Given the description of an element on the screen output the (x, y) to click on. 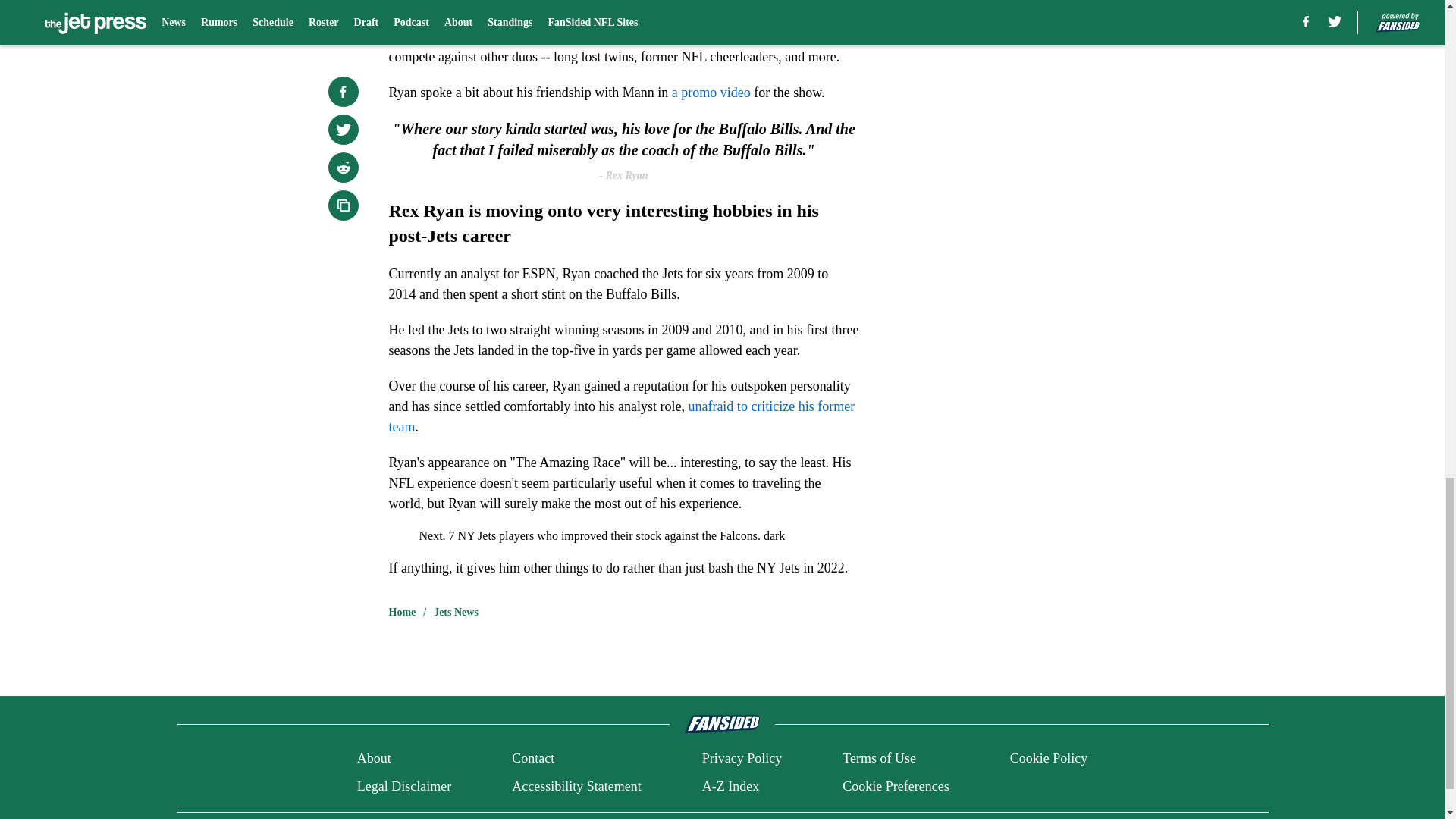
About (373, 758)
Privacy Policy (742, 758)
Cookie Preferences (896, 786)
A-Z Index (729, 786)
Home (401, 612)
a promo video (708, 92)
Contact (533, 758)
Cookie Policy (1048, 758)
Jets News (456, 612)
unafraid to criticize his former team (621, 416)
